Given the description of an element on the screen output the (x, y) to click on. 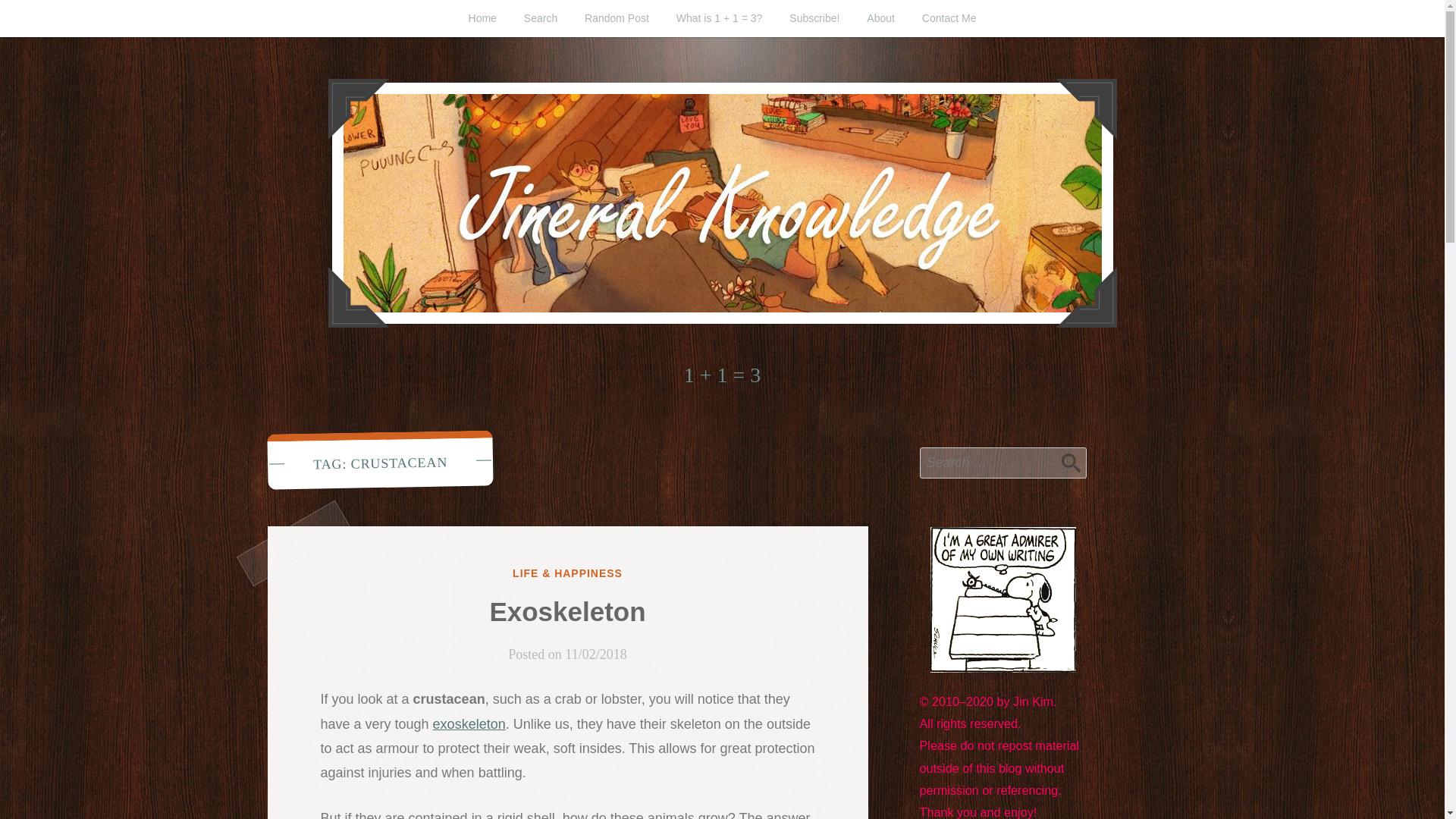
Contact Me (949, 18)
Search (540, 18)
Random Post (616, 18)
Exoskeleton (567, 611)
Search (1070, 462)
Home (482, 18)
Subscribe! (814, 18)
exoskeleton (468, 724)
About (880, 18)
Search (1070, 462)
